Given the description of an element on the screen output the (x, y) to click on. 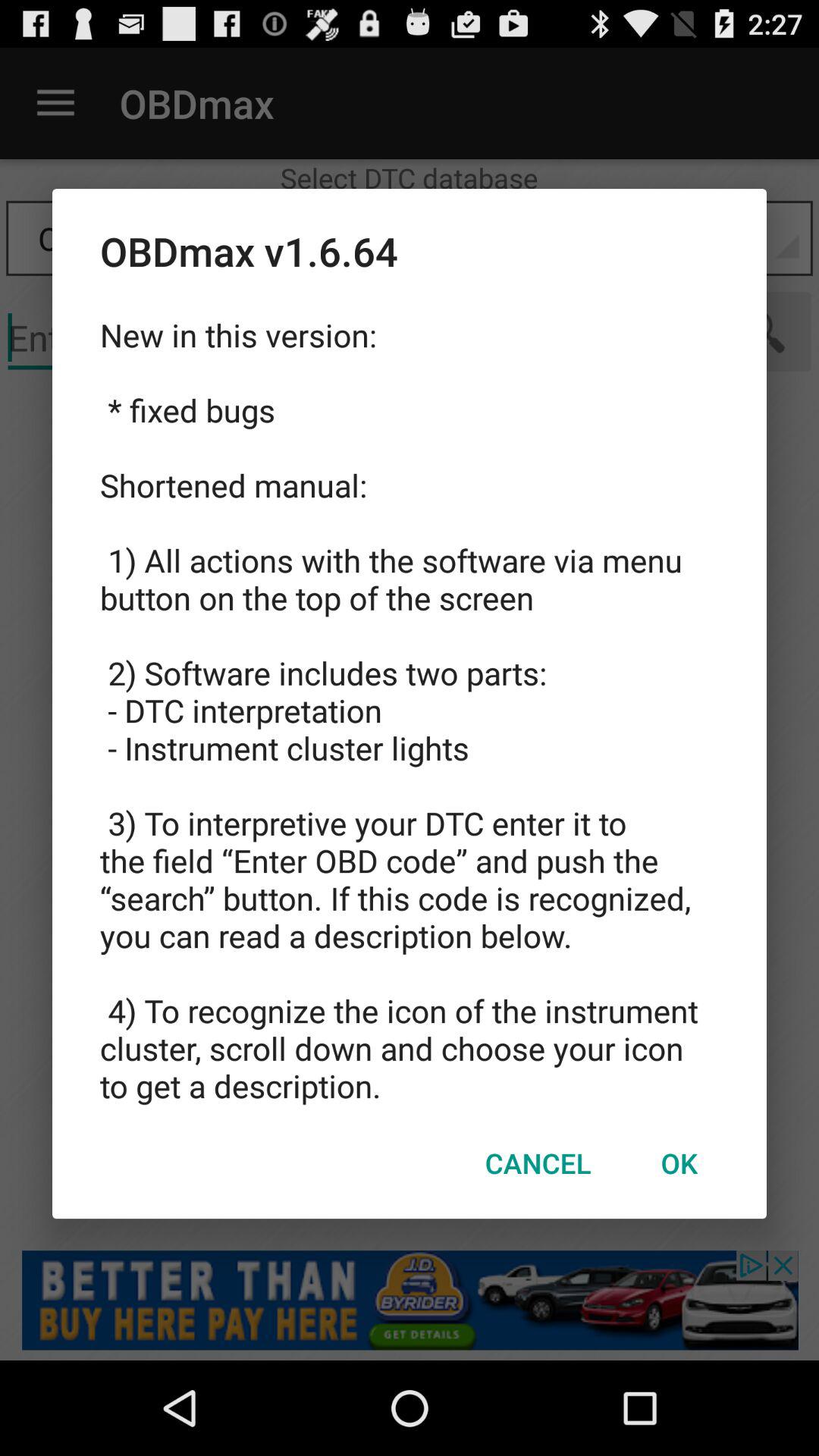
swipe until cancel item (538, 1162)
